Given the description of an element on the screen output the (x, y) to click on. 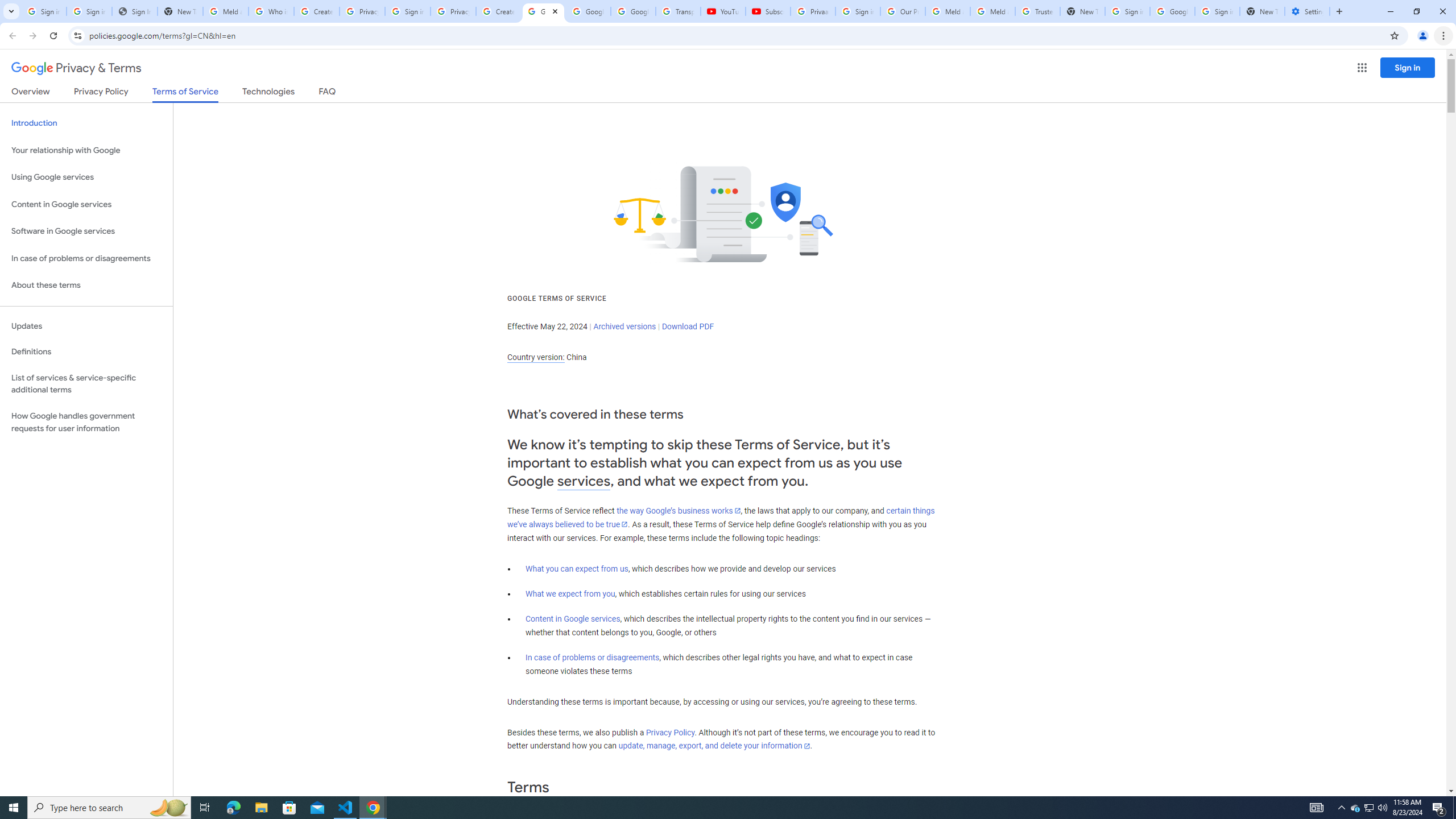
How Google handles government requests for user information (86, 422)
Updates (86, 325)
Technologies (268, 93)
Your relationship with Google (86, 150)
List of services & service-specific additional terms (86, 383)
Sign In - USA TODAY (134, 11)
